Given the description of an element on the screen output the (x, y) to click on. 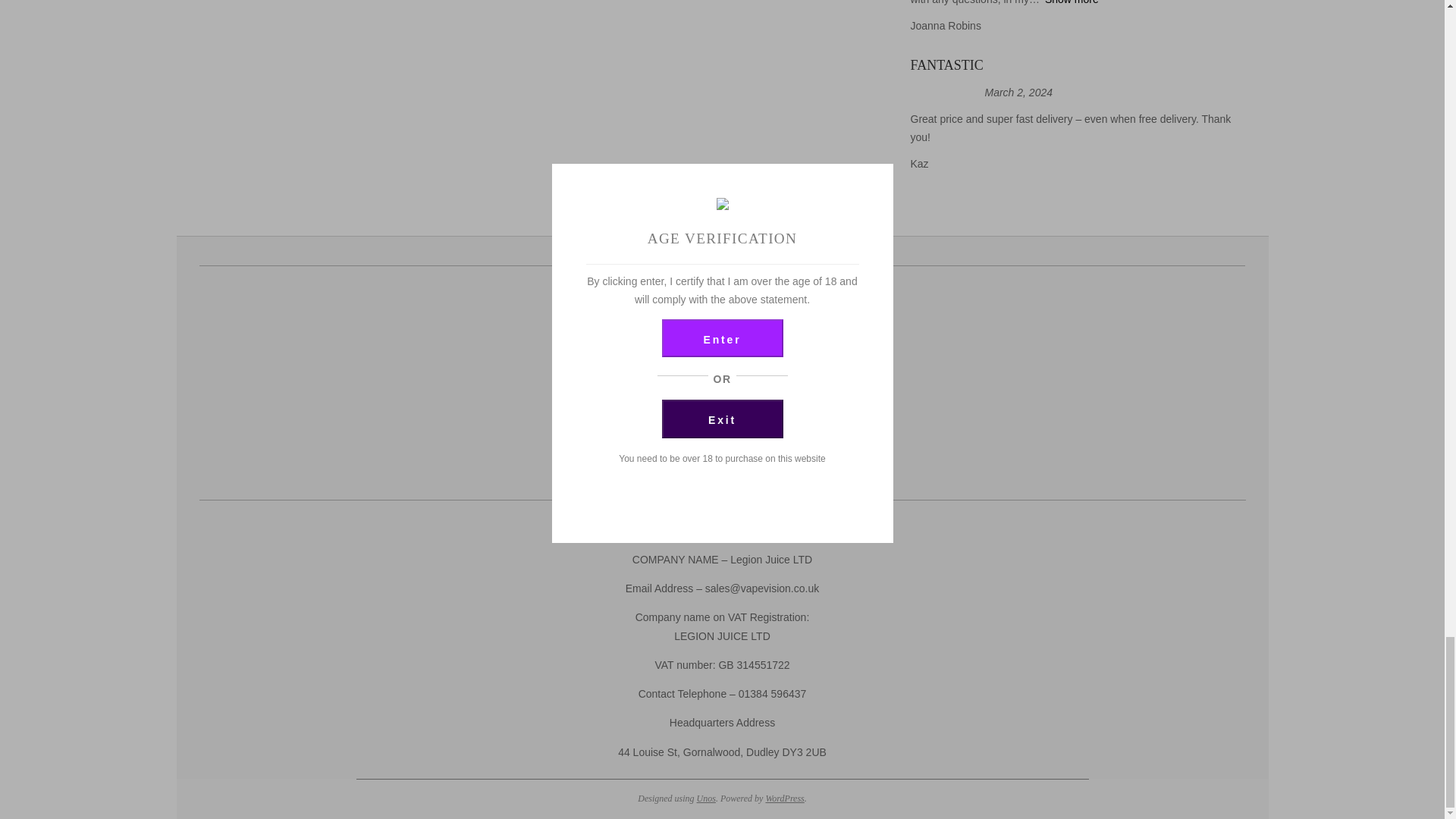
Unos WordPress Theme (706, 798)
